Given the description of an element on the screen output the (x, y) to click on. 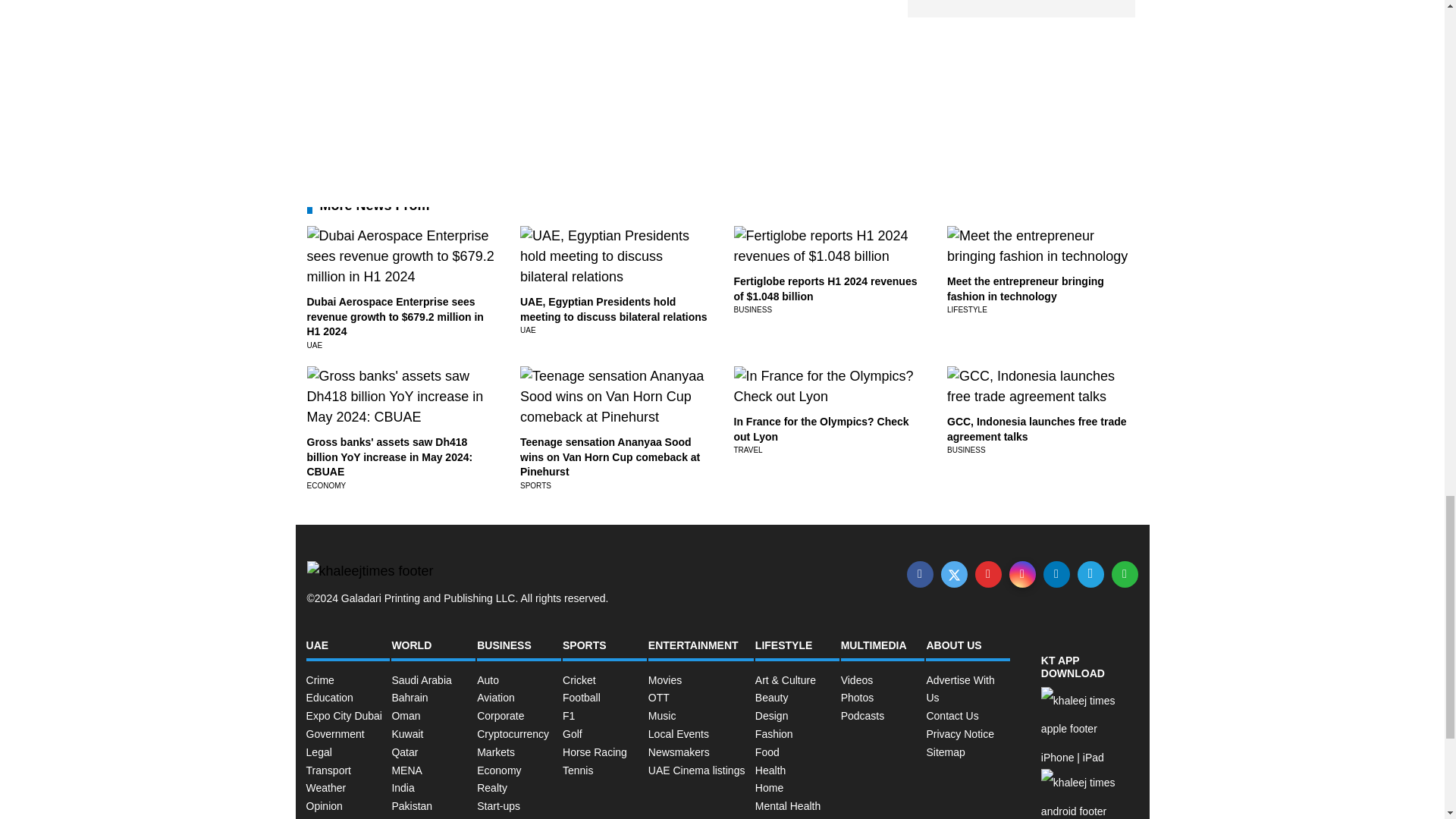
Meet the entrepreneur bringing fashion in technology (1025, 288)
GCC, Indonesia launches free trade agreement talks (1036, 429)
In France for the Olympics? Check out Lyon  (820, 429)
